Given the description of an element on the screen output the (x, y) to click on. 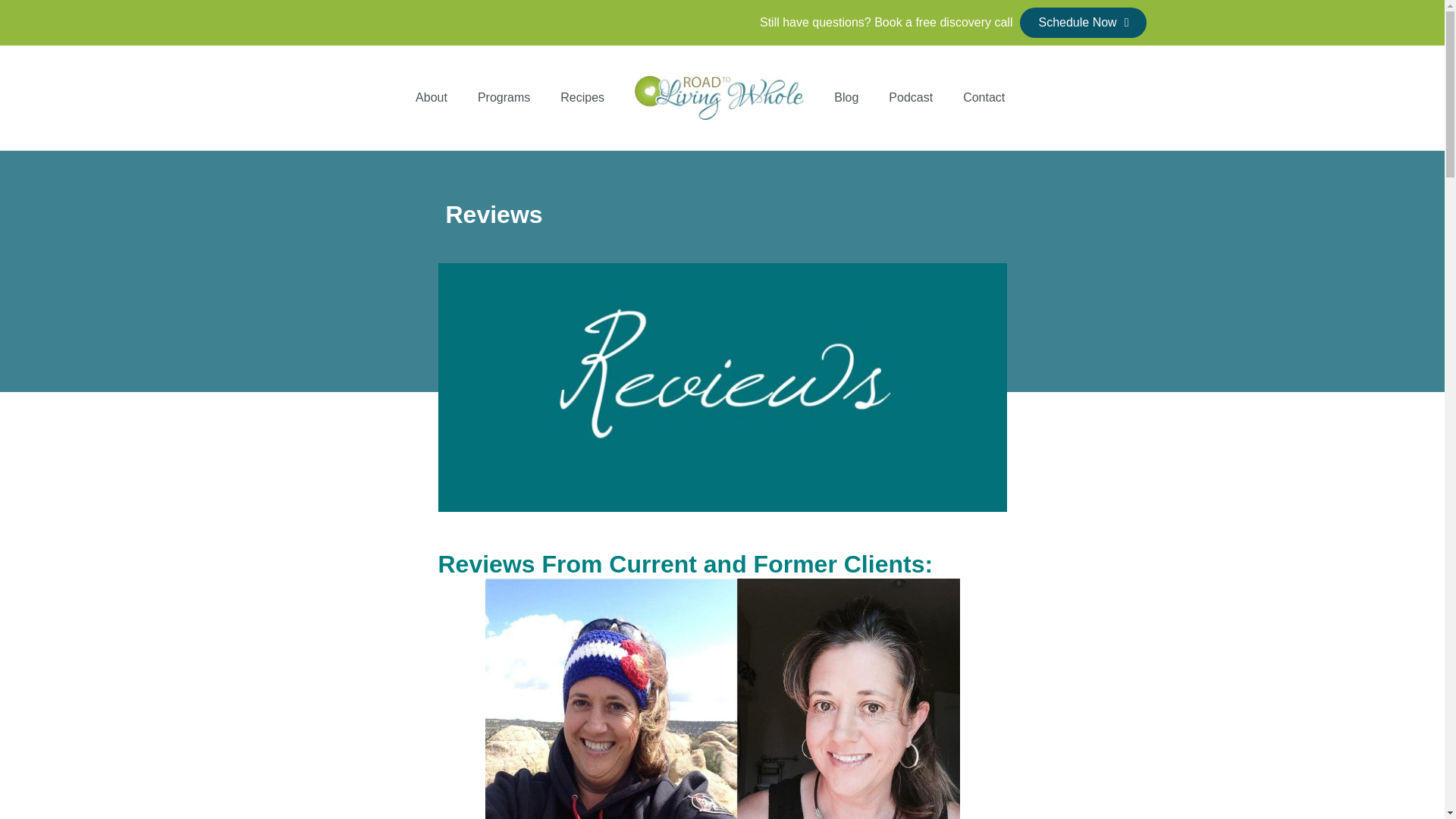
About (431, 97)
Schedule Now (1083, 22)
Programs (503, 97)
Contact (983, 97)
Podcast (910, 97)
Blog (845, 97)
Recipes (582, 97)
